Given the description of an element on the screen output the (x, y) to click on. 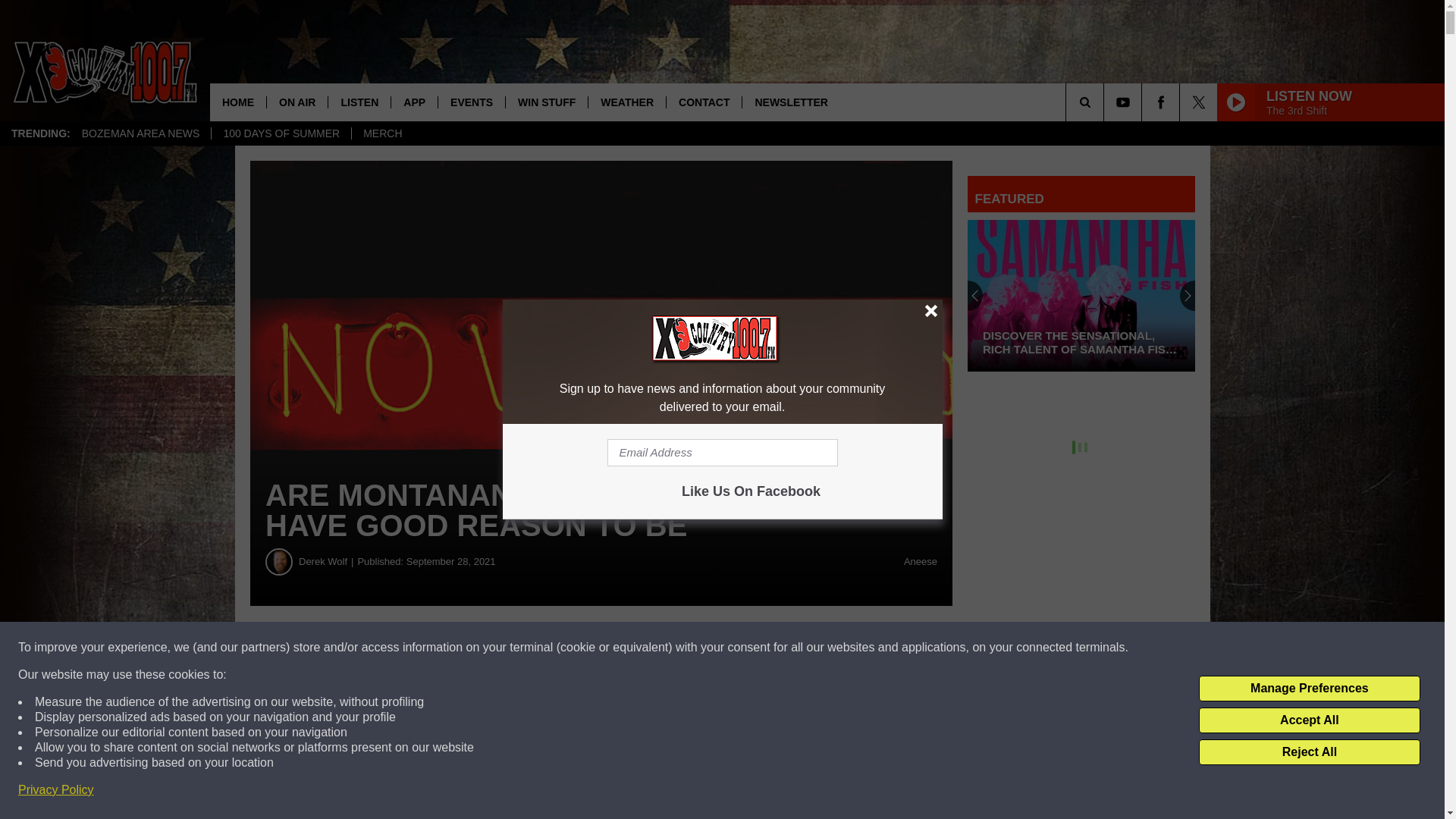
SEARCH (1106, 102)
WEATHER (626, 102)
SEARCH (1106, 102)
HOME (237, 102)
MERCH (381, 133)
Reject All (1309, 751)
EVENTS (471, 102)
Share on Facebook (460, 647)
CONTACT (703, 102)
WIN STUFF (546, 102)
100 DAYS OF SUMMER (280, 133)
Privacy Policy (55, 789)
APP (414, 102)
ON AIR (296, 102)
Email Address (722, 452)
